Given the description of an element on the screen output the (x, y) to click on. 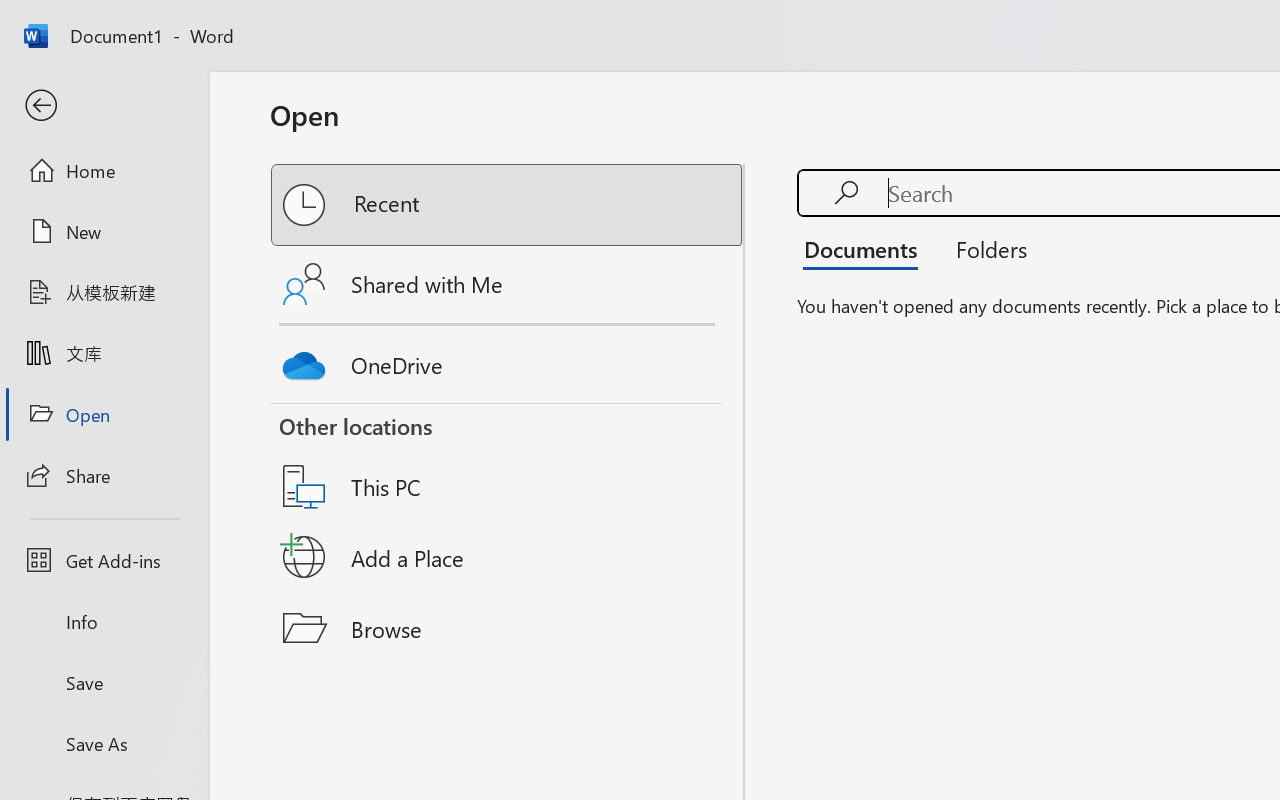
This PC (507, 461)
New (104, 231)
OneDrive (507, 359)
Info (104, 621)
Documents (866, 248)
Browse (507, 627)
Get Add-ins (104, 560)
Shared with Me (507, 283)
Save As (104, 743)
